Given the description of an element on the screen output the (x, y) to click on. 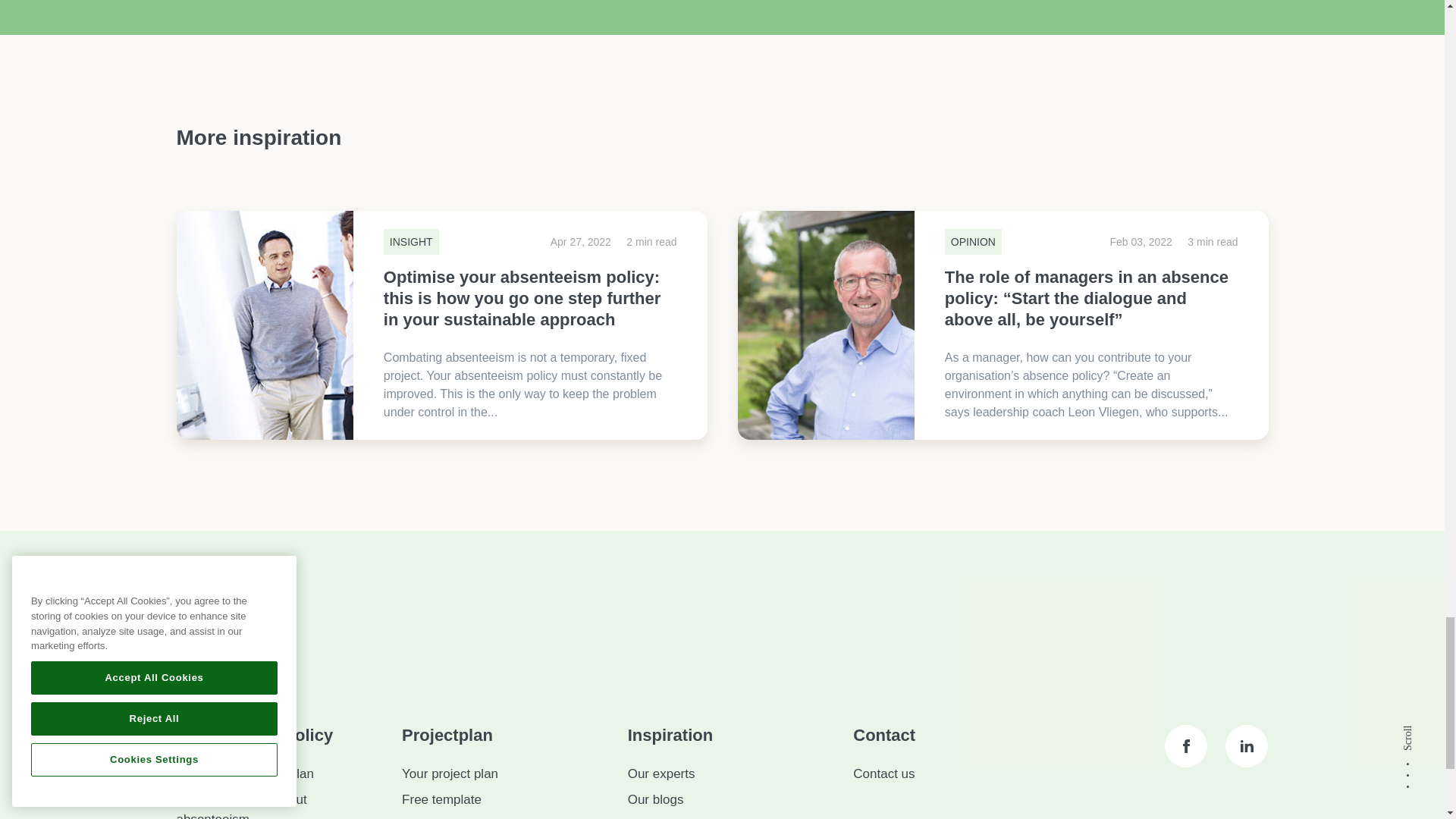
Training courses about absenteeism (240, 805)
Free template (441, 799)
Our experts (661, 773)
Your project plan (449, 773)
Tailor-made project plan (244, 773)
Contact us (883, 773)
Our blogs (655, 799)
